Given the description of an element on the screen output the (x, y) to click on. 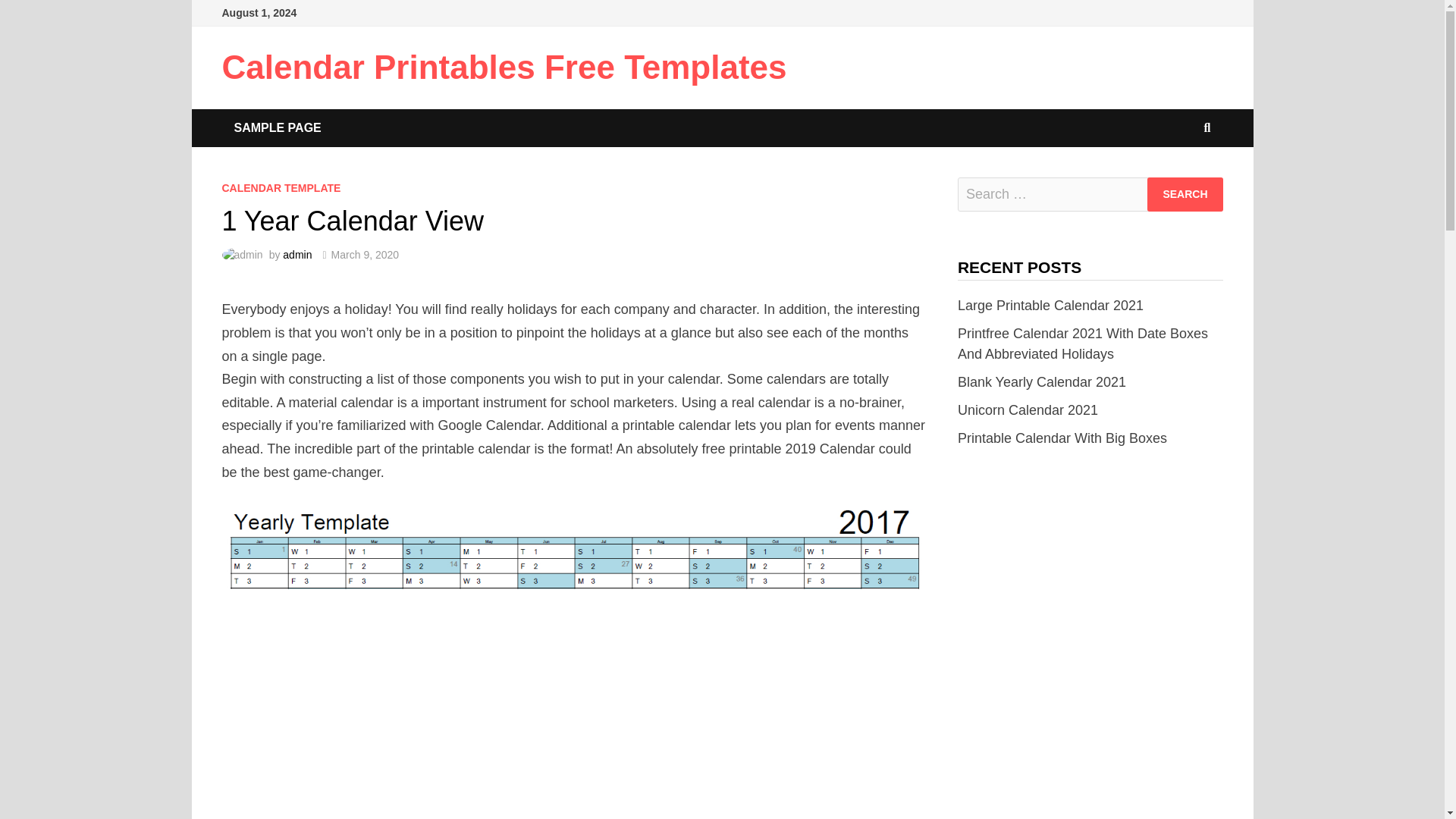
Search (1185, 194)
admin (296, 254)
Large Printable Calendar 2021 (1050, 305)
Unicorn Calendar 2021 (1027, 409)
Search (1185, 194)
Search (1185, 194)
Blank Yearly Calendar 2021 (1041, 381)
SAMPLE PAGE (277, 127)
March 9, 2020 (364, 254)
